Given the description of an element on the screen output the (x, y) to click on. 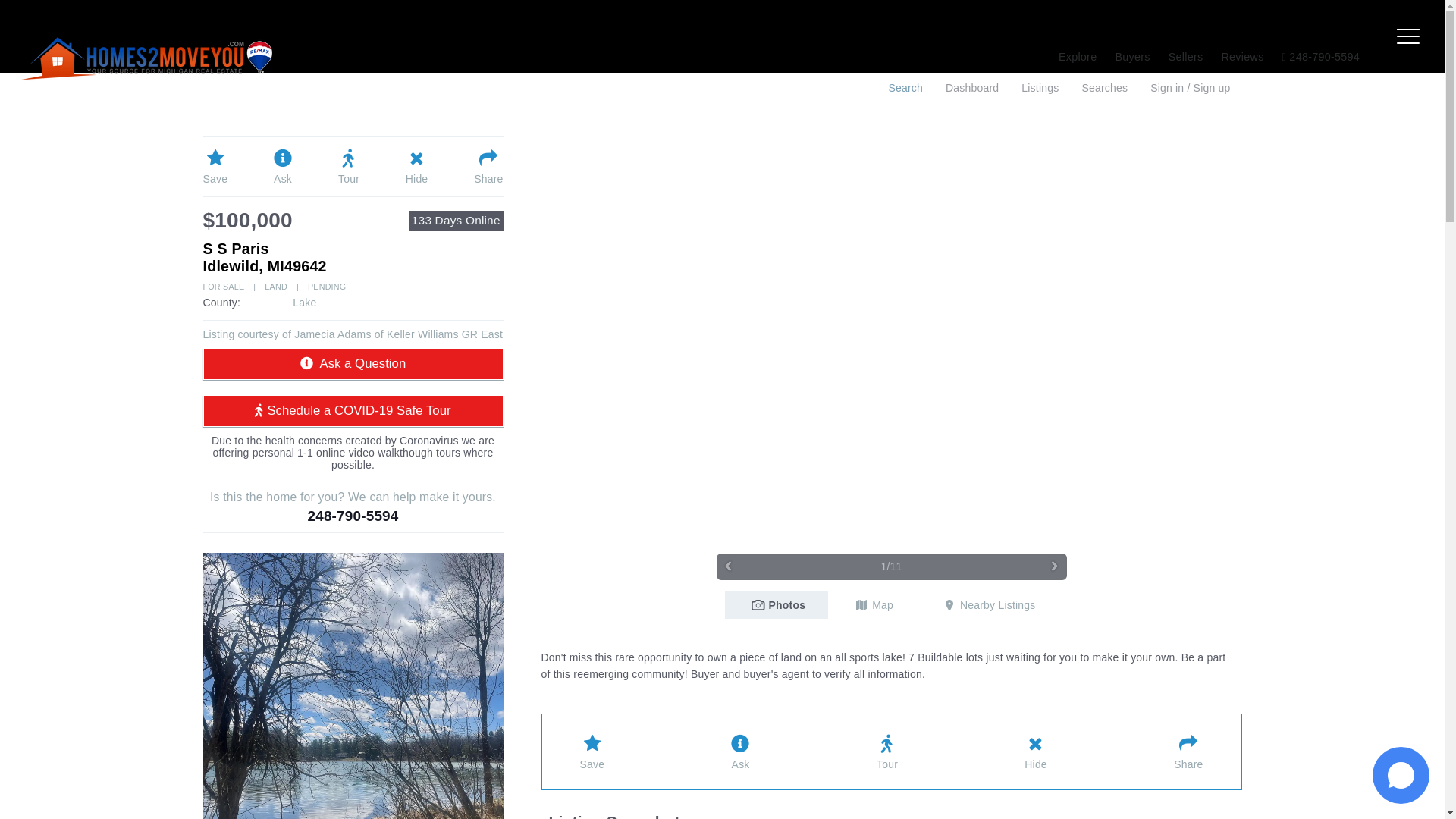
Buyers (1131, 56)
Explore (1077, 56)
248-790-5594 (1320, 56)
Reviews (1241, 56)
Toggle CTA Icon (1401, 774)
Sellers (1185, 56)
